Given the description of an element on the screen output the (x, y) to click on. 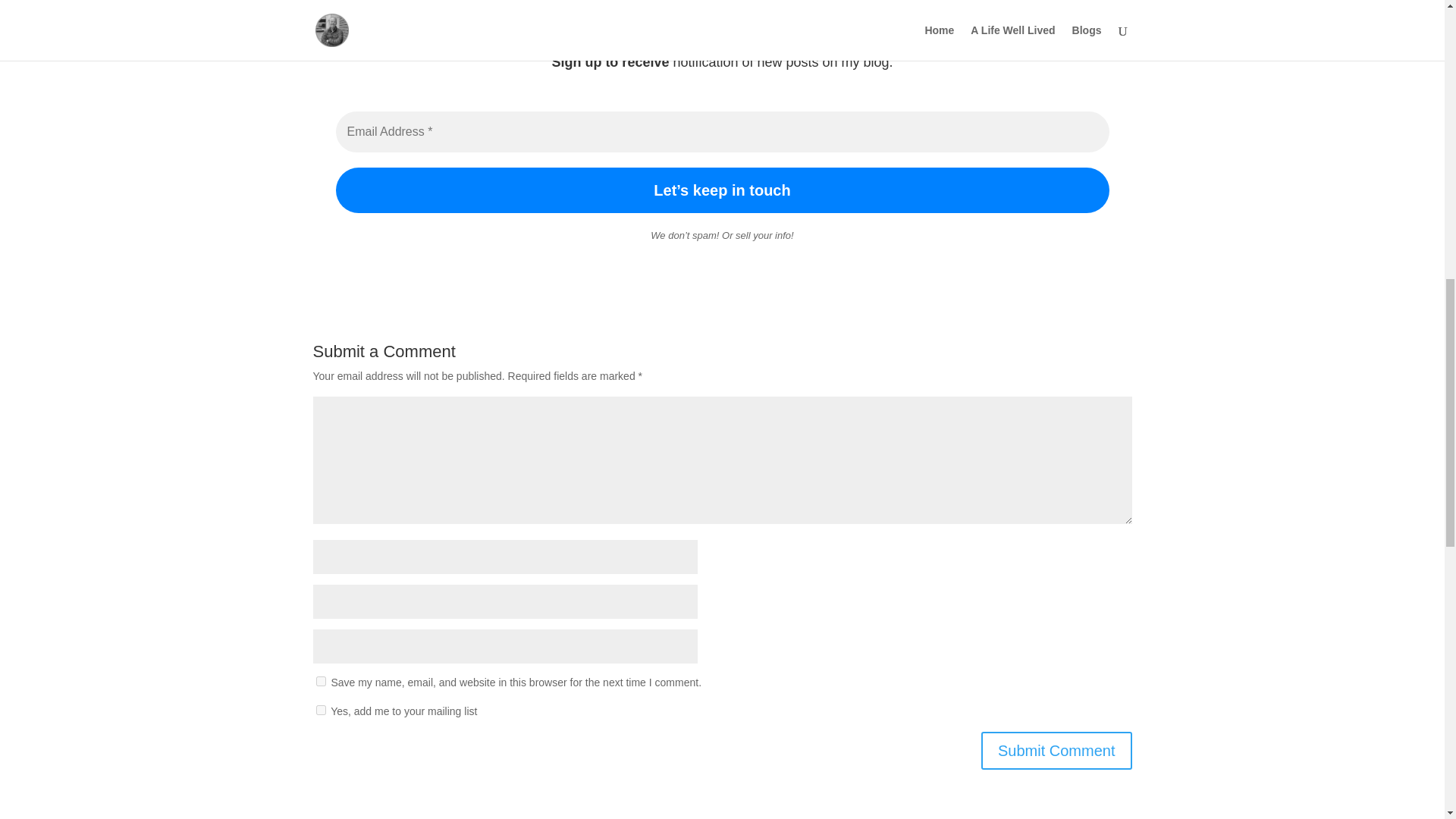
Submit Comment (1056, 750)
Email Address (721, 131)
yes (319, 681)
1 (319, 709)
Submit Comment (1056, 750)
